Given the description of an element on the screen output the (x, y) to click on. 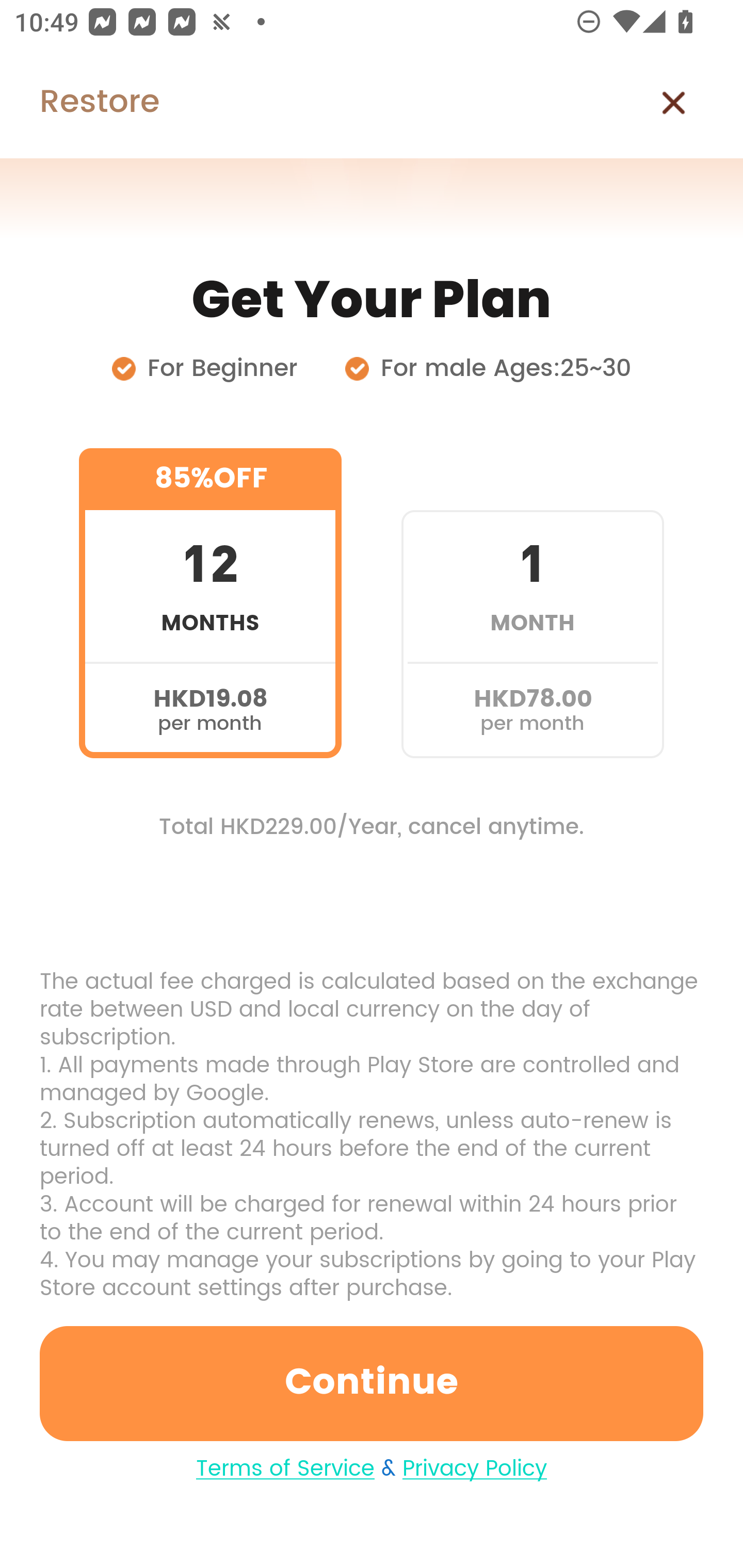
Restore (79, 102)
85%OFF 12 MONTHS per month HKD19.08 (209, 603)
1 MONTH per month HKD78.00 (532, 603)
Continue (371, 1383)
